Given the description of an element on the screen output the (x, y) to click on. 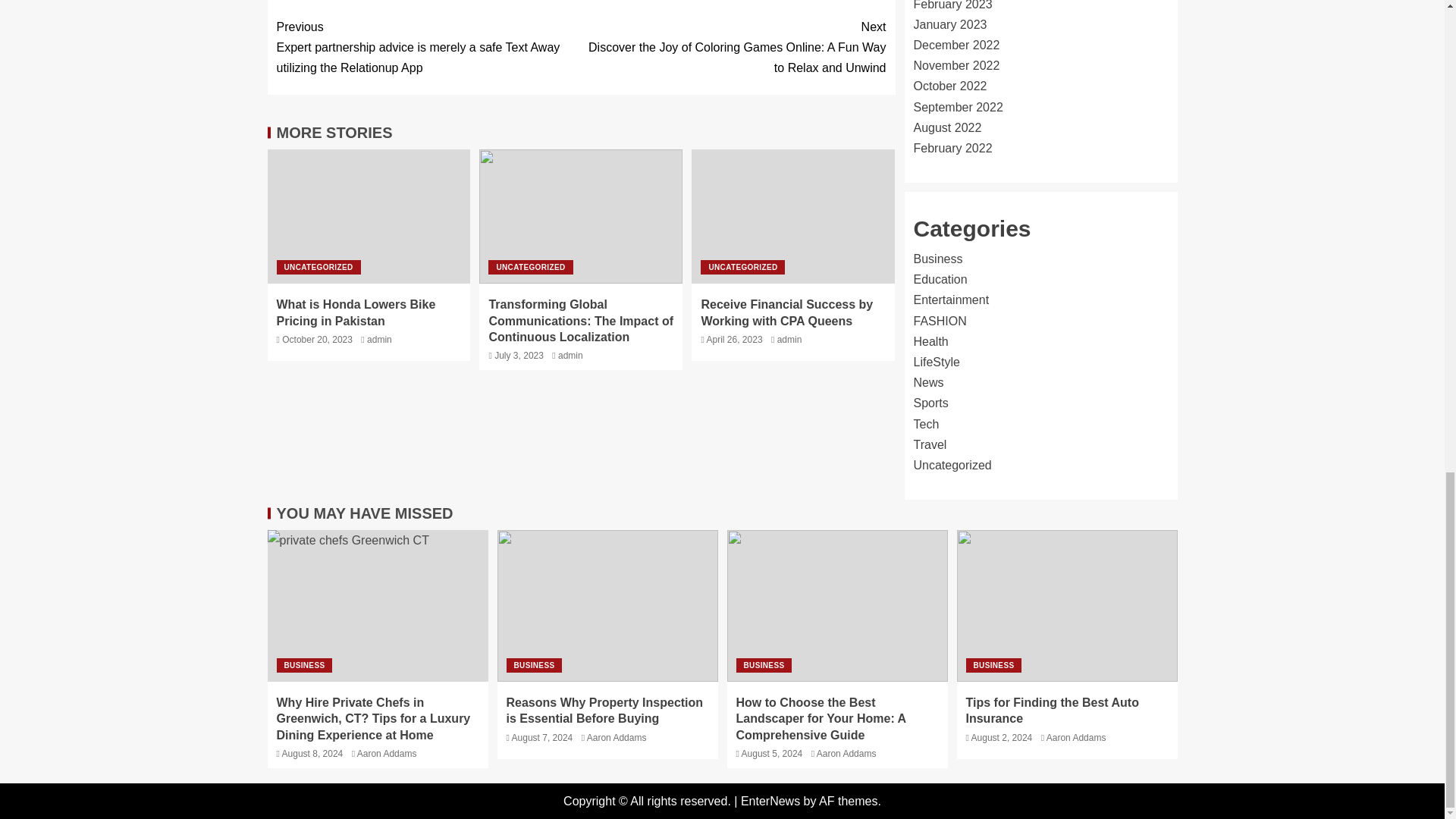
admin (378, 339)
Receive Financial Success by Working with CPA Queens (786, 312)
admin (570, 355)
UNCATEGORIZED (742, 267)
UNCATEGORIZED (529, 267)
UNCATEGORIZED (317, 267)
What is Honda Lowers Bike Pricing in Pakistan (355, 312)
admin (789, 339)
